Given the description of an element on the screen output the (x, y) to click on. 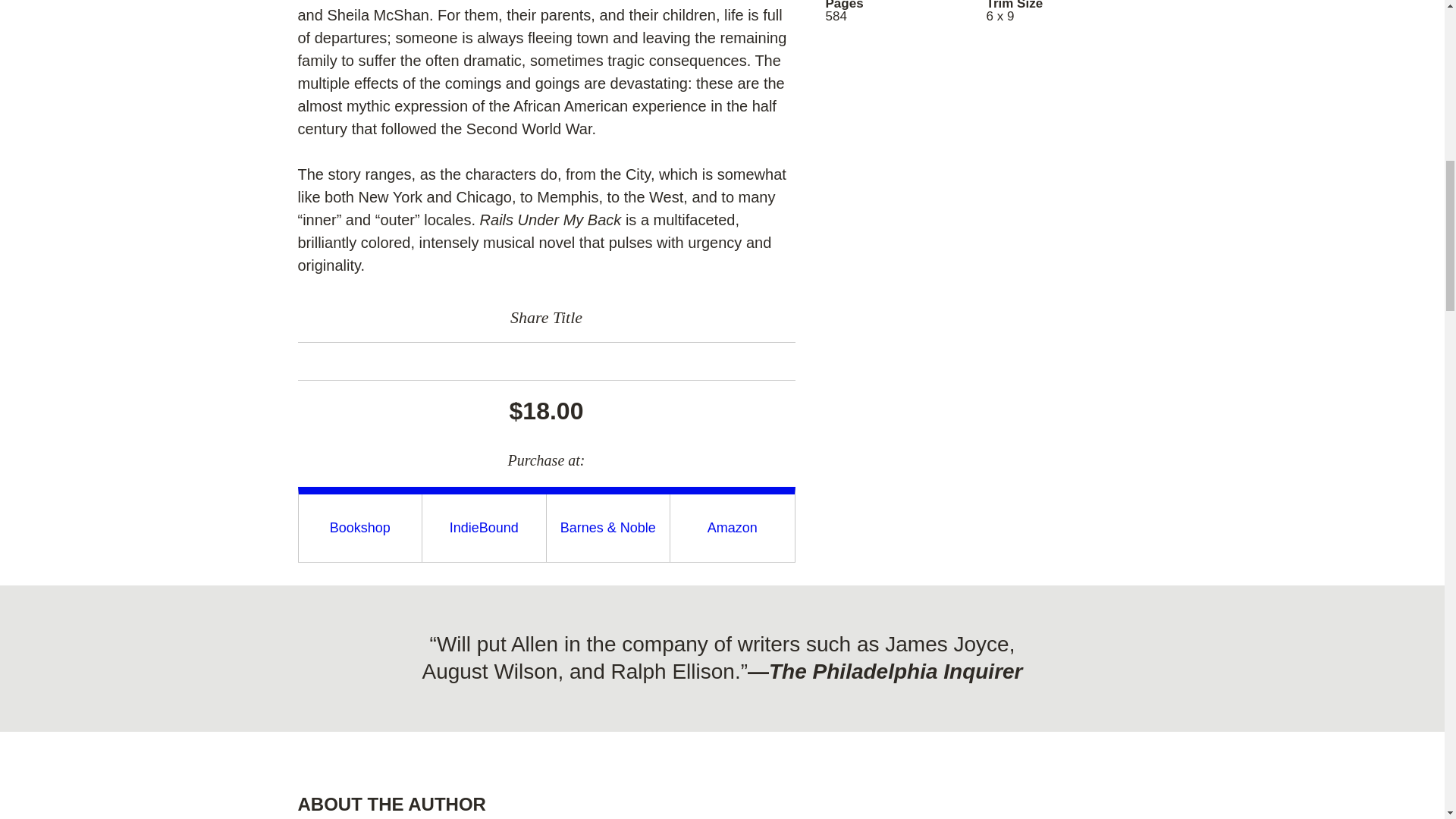
Bookshop (360, 527)
IndieBound (484, 527)
Amazon (731, 527)
